Given the description of an element on the screen output the (x, y) to click on. 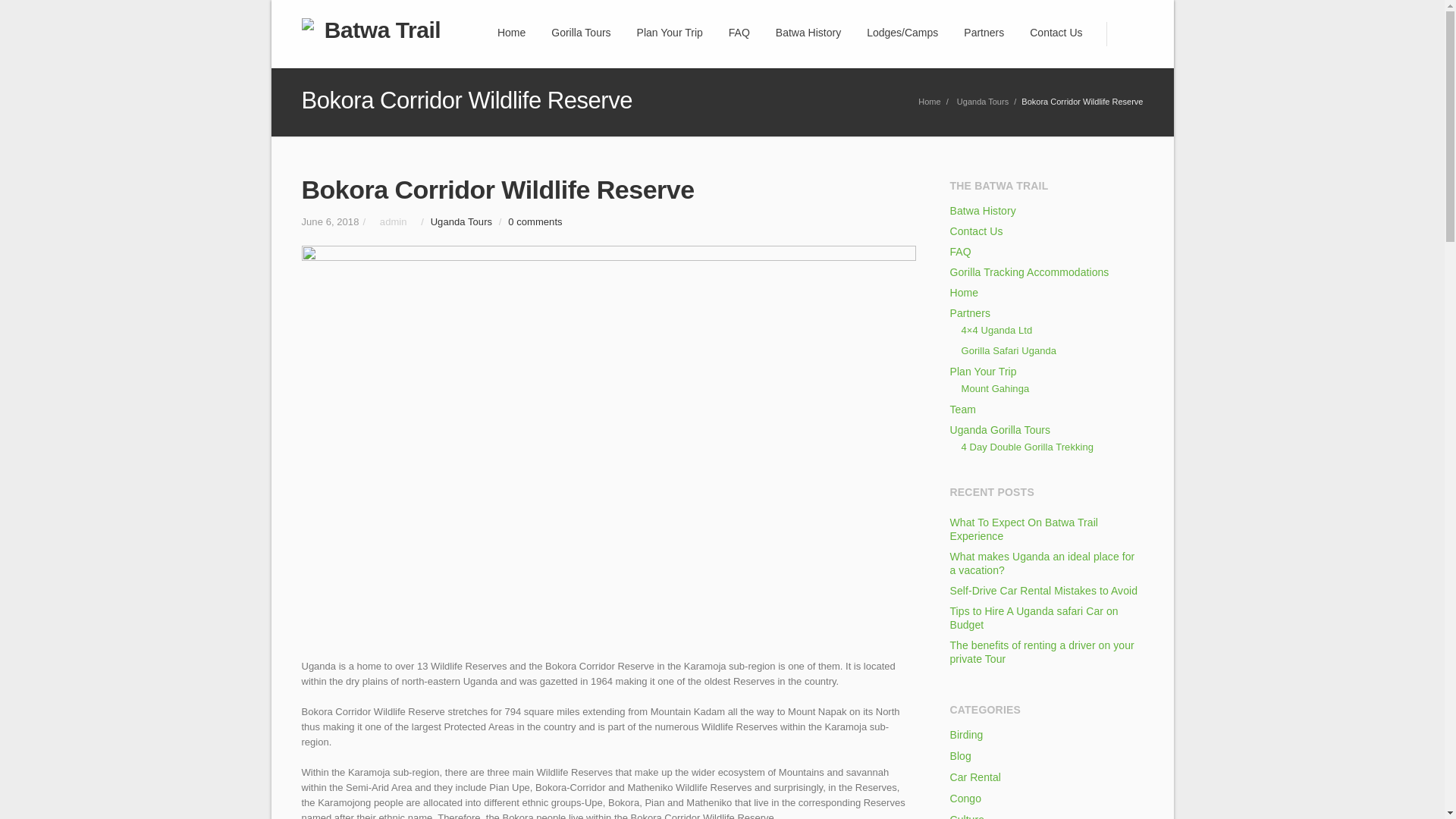
Contact Us (976, 231)
Partners (969, 313)
Search (1123, 33)
Plan Your Trip (670, 33)
Uganda Tours (982, 101)
Home (963, 292)
Plan Your Trip (982, 371)
Gorilla Tracking Accommodations (1028, 272)
Home (929, 101)
Batwa History (981, 210)
